Given the description of an element on the screen output the (x, y) to click on. 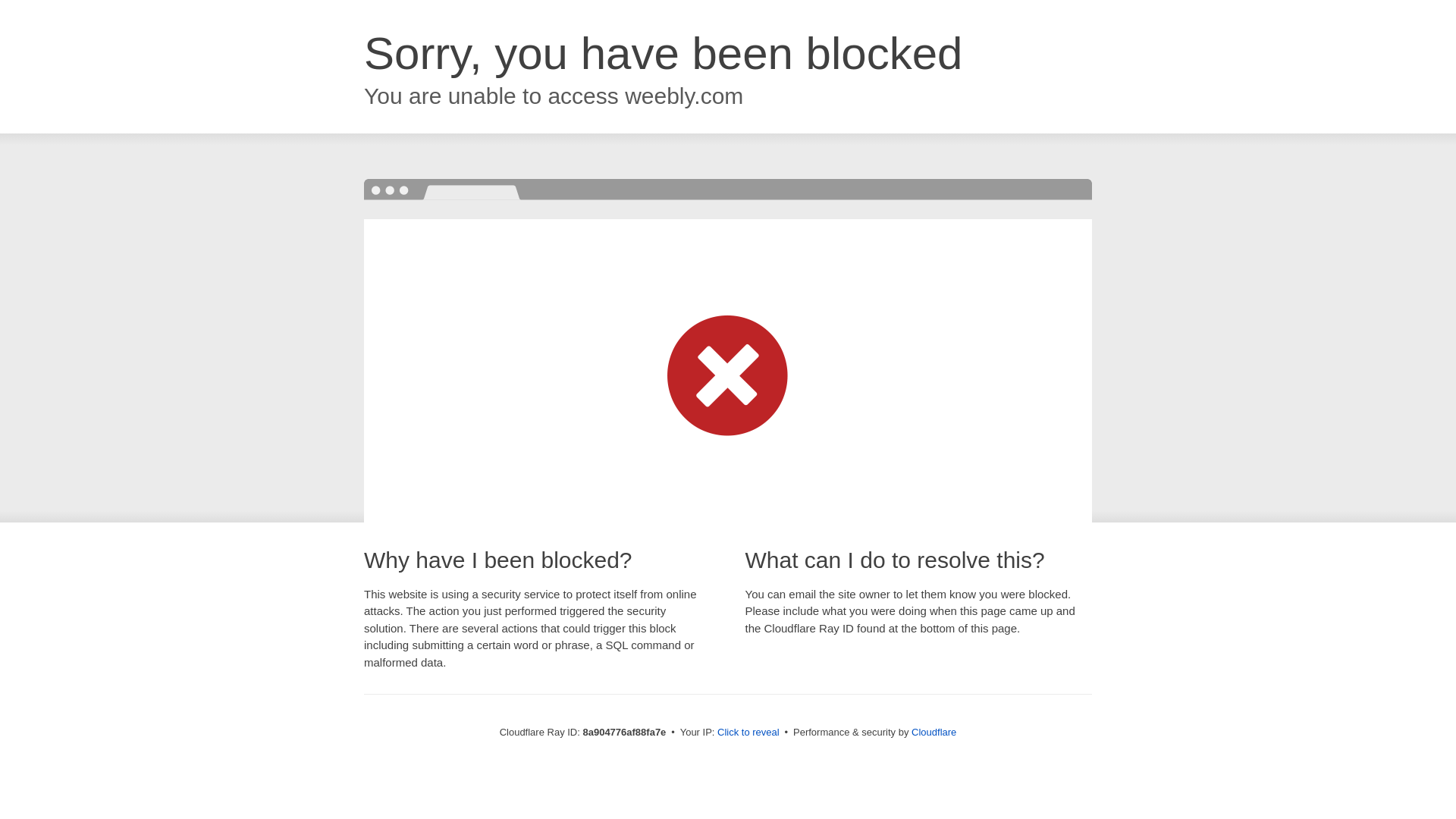
Cloudflare (933, 731)
Click to reveal (747, 732)
